Given the description of an element on the screen output the (x, y) to click on. 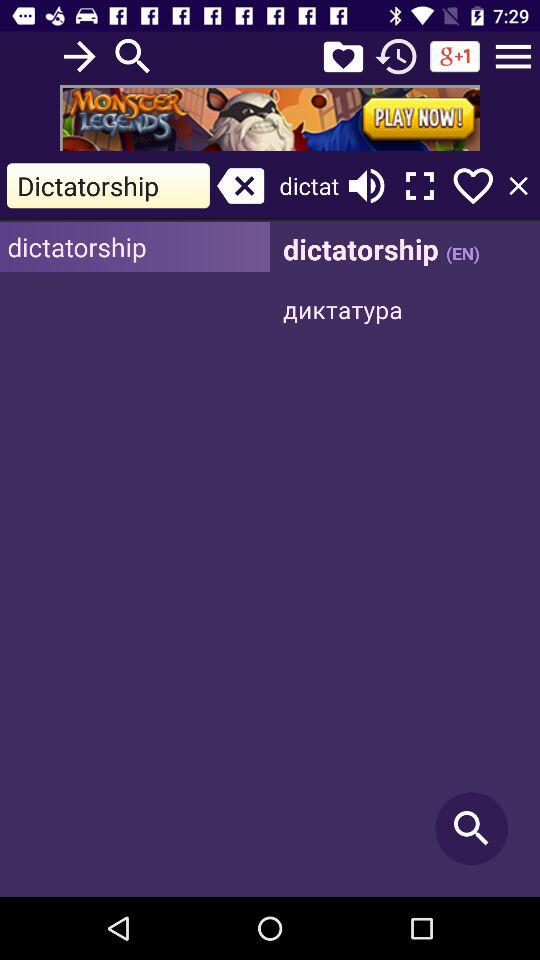
love (473, 185)
